Given the description of an element on the screen output the (x, y) to click on. 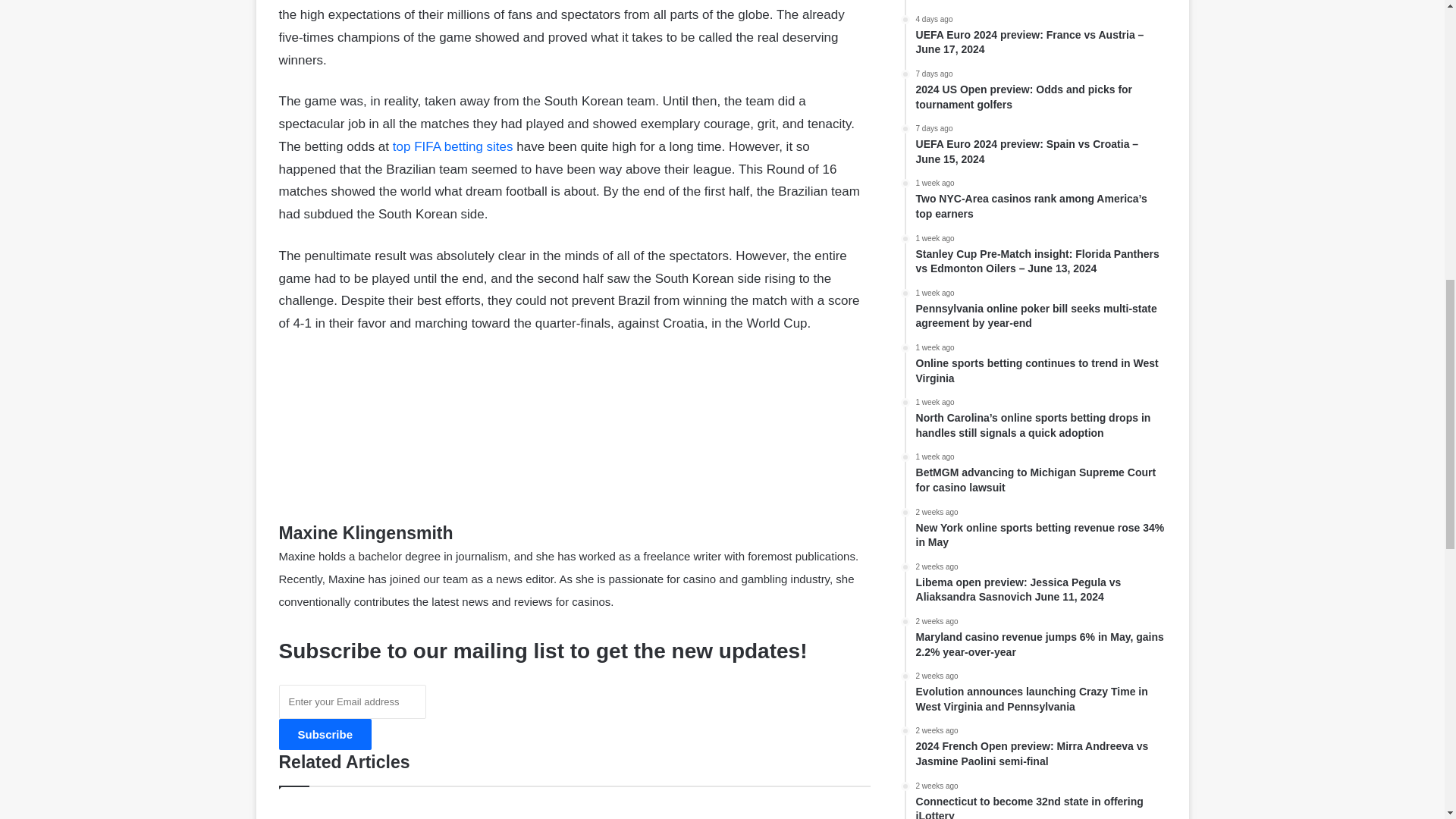
Subscribe (325, 734)
